Given the description of an element on the screen output the (x, y) to click on. 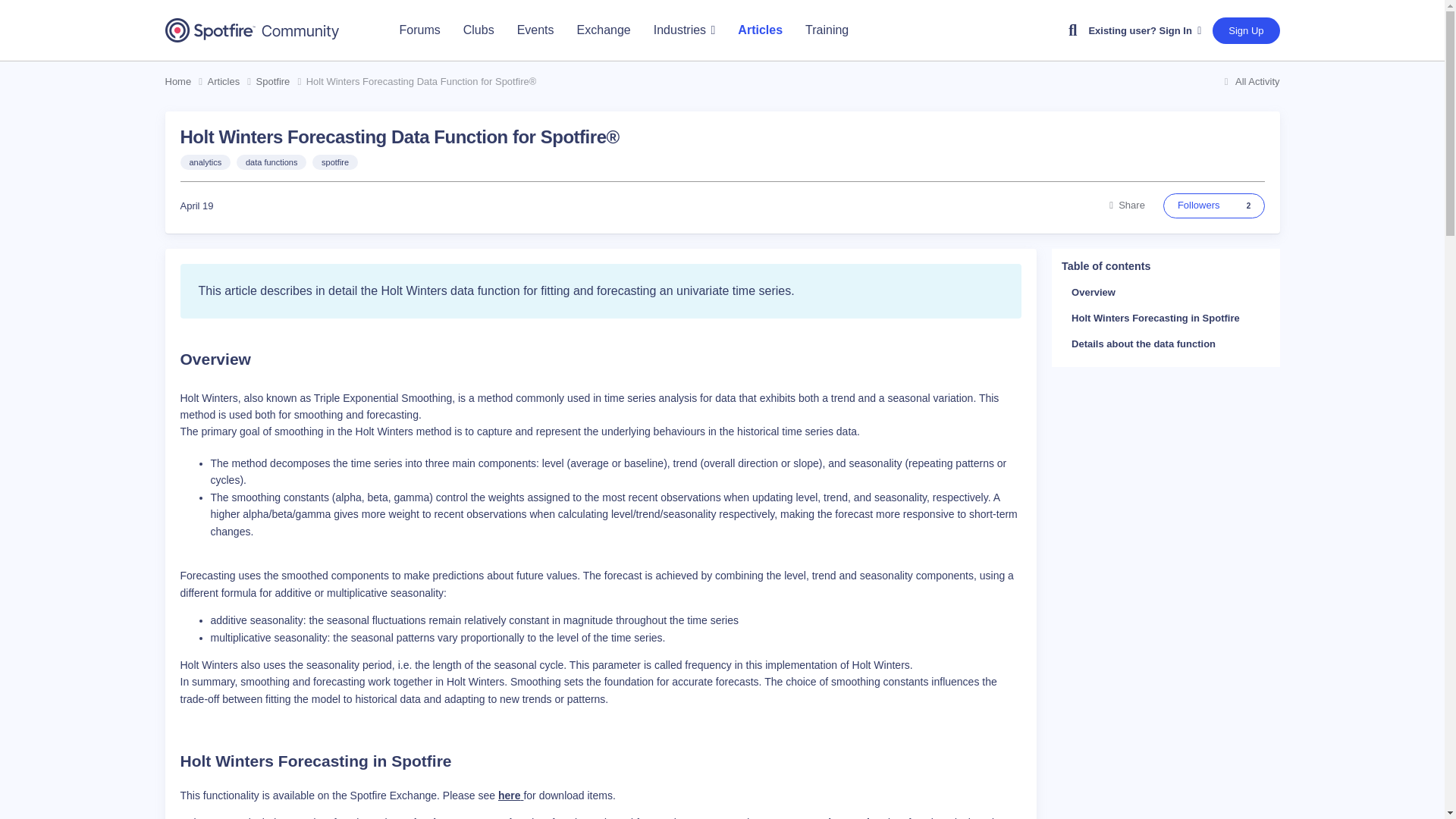
Exchange (604, 30)
Articles (232, 81)
Events (535, 30)
Find other content tagged with 'analytics' (205, 161)
Industries (684, 30)
Training (826, 30)
 Share (1127, 205)
here (509, 795)
Find other content tagged with 'spotfire' (335, 161)
spotfire (335, 161)
Sign Up (1245, 29)
Sign in to follow this (1214, 205)
Articles (759, 30)
Existing user? Sign In   (1144, 30)
Spotfire (280, 81)
